Given the description of an element on the screen output the (x, y) to click on. 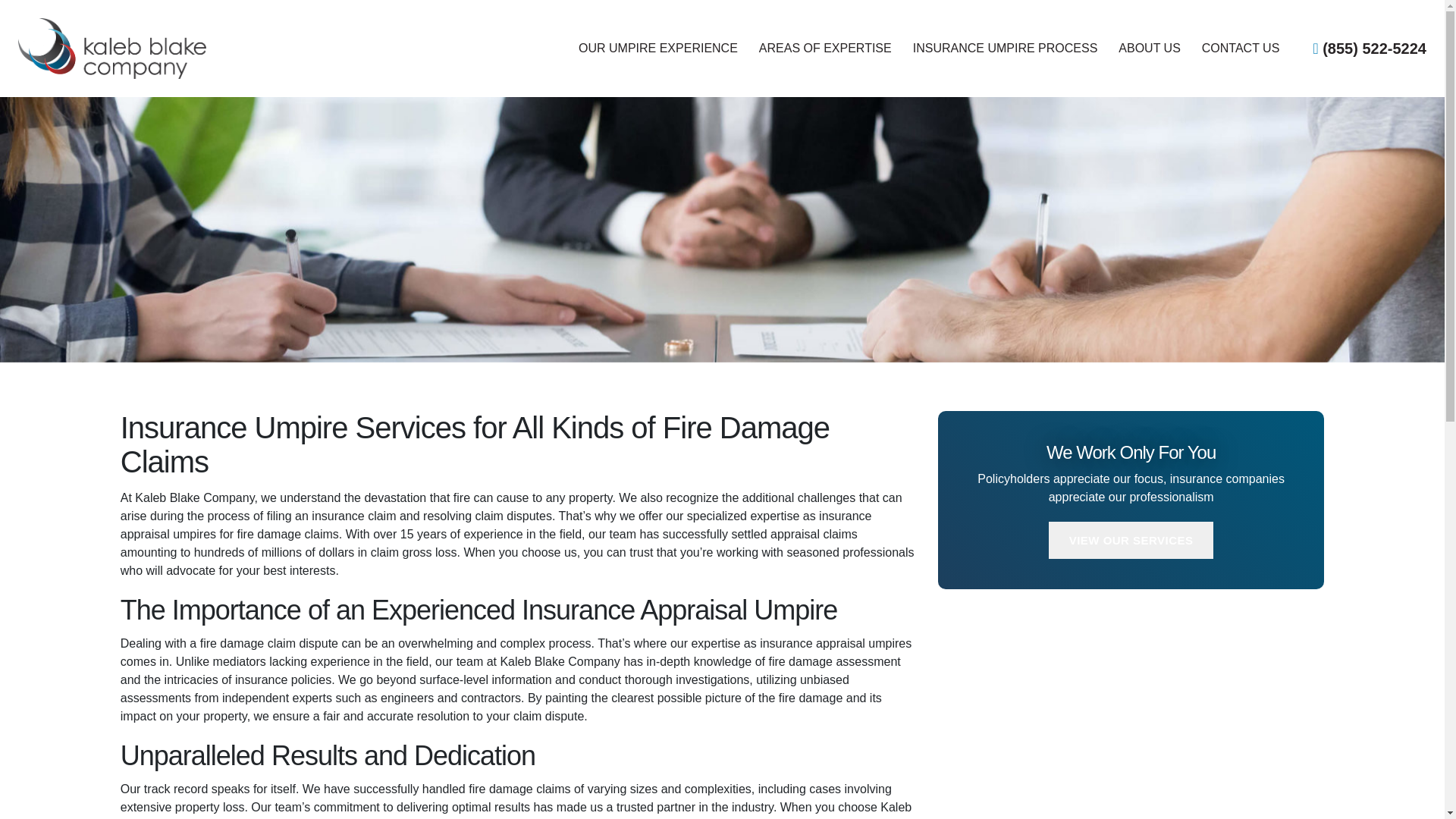
AREAS OF EXPERTISE (824, 49)
CONTACT US (1240, 49)
OUR UMPIRE EXPERIENCE (658, 49)
ABOUT US (1149, 49)
Kaleb Blake Company (135, 48)
INSURANCE UMPIRE PROCESS (1004, 49)
